Given the description of an element on the screen output the (x, y) to click on. 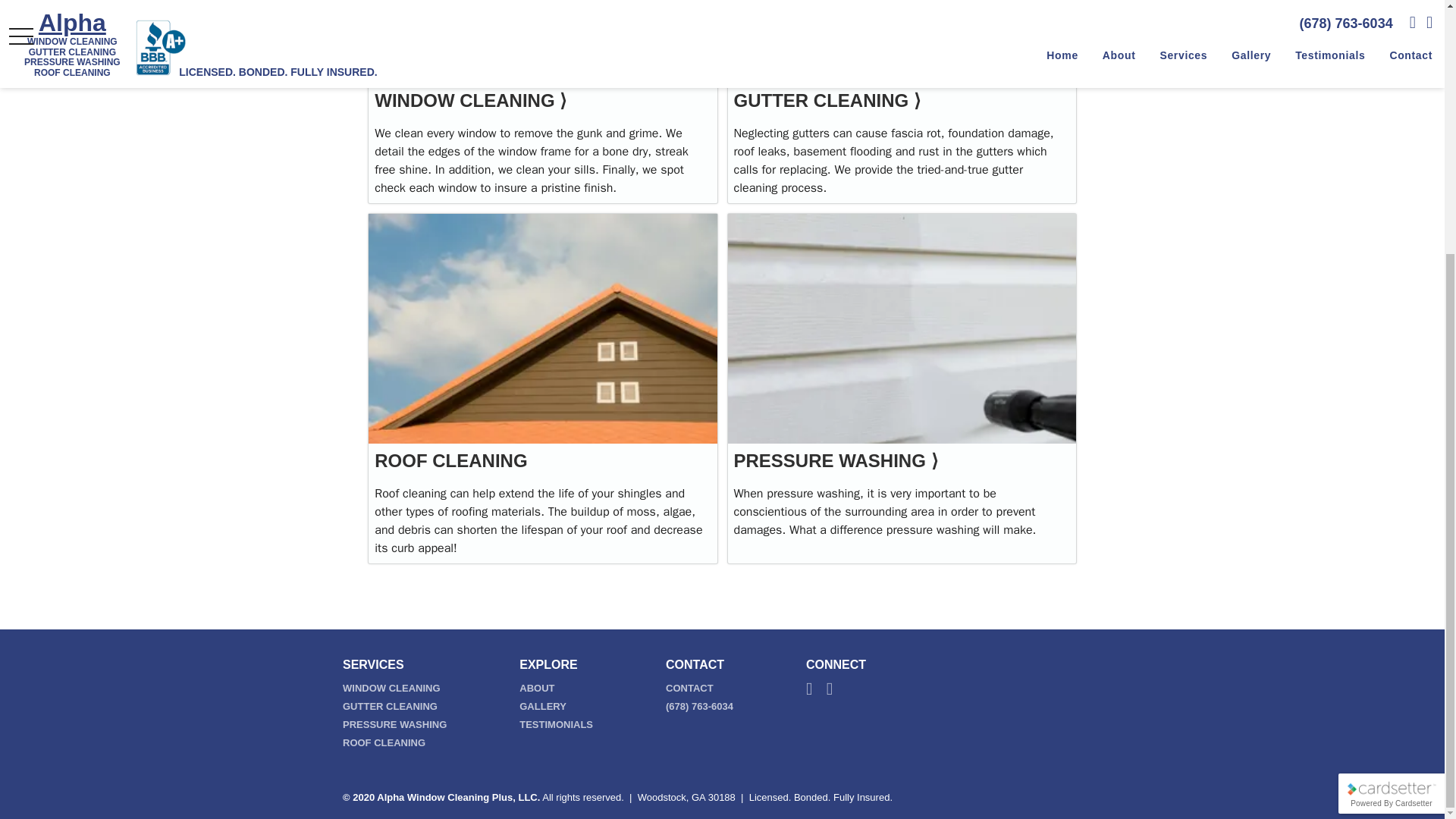
PRESSURE WASHING (394, 724)
CONTACT (689, 687)
TESTIMONIALS (555, 724)
GUTTER CLEANING (390, 706)
ABOUT (536, 687)
GALLERY (542, 706)
ROOF CLEANING (383, 742)
WINDOW CLEANING (391, 687)
